Given the description of an element on the screen output the (x, y) to click on. 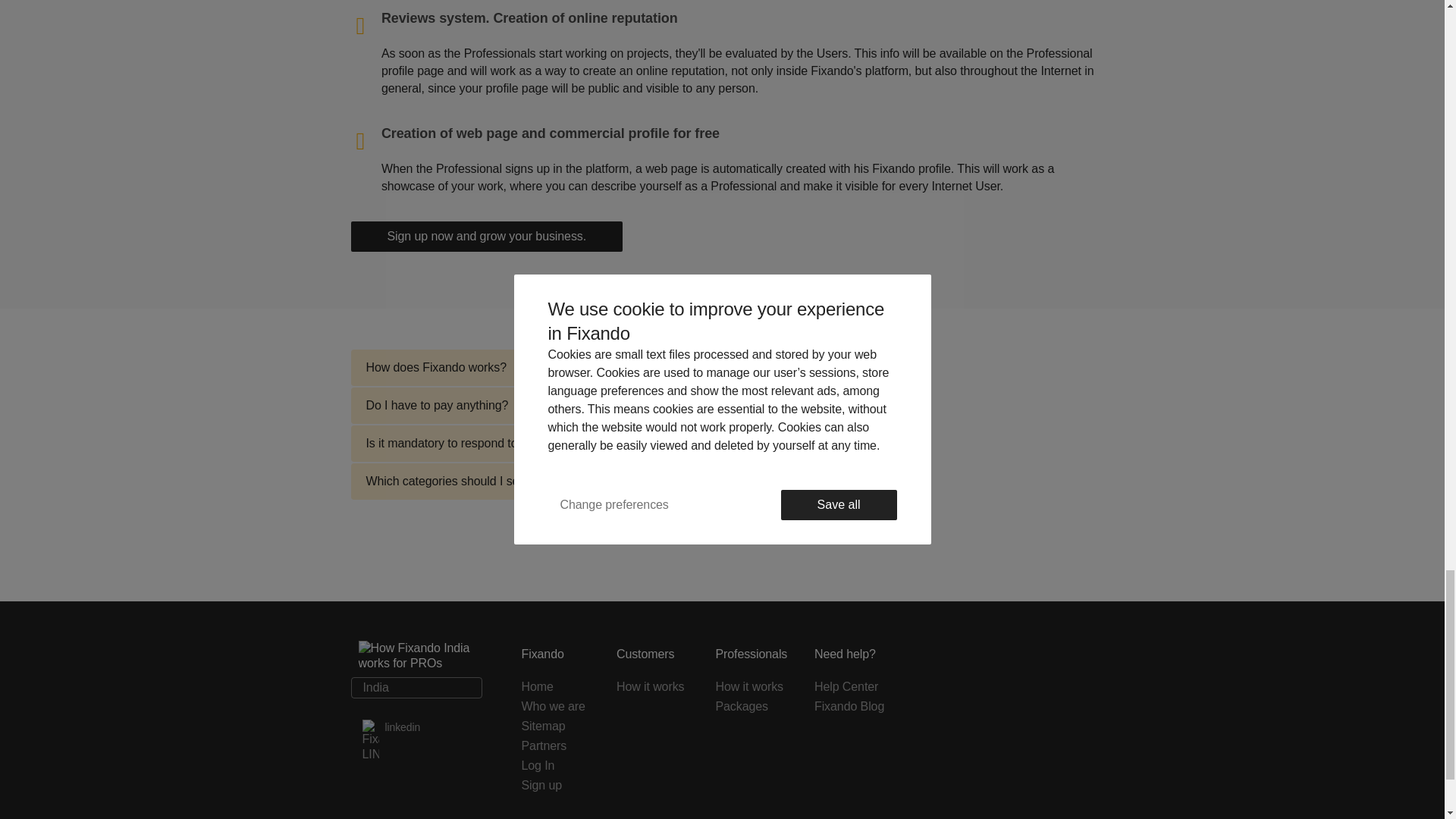
Who we are (557, 706)
Sign up (557, 785)
How it works (753, 686)
Sitemap (557, 726)
Home (557, 686)
Log In (557, 765)
Sign up now and grow your business. (486, 236)
How it works (654, 686)
Packages (753, 706)
Help Center (853, 686)
India (415, 687)
Fixando Blog (853, 706)
Privacy Policy (830, 727)
linkedin (415, 727)
Terms of Use (753, 727)
